Given the description of an element on the screen output the (x, y) to click on. 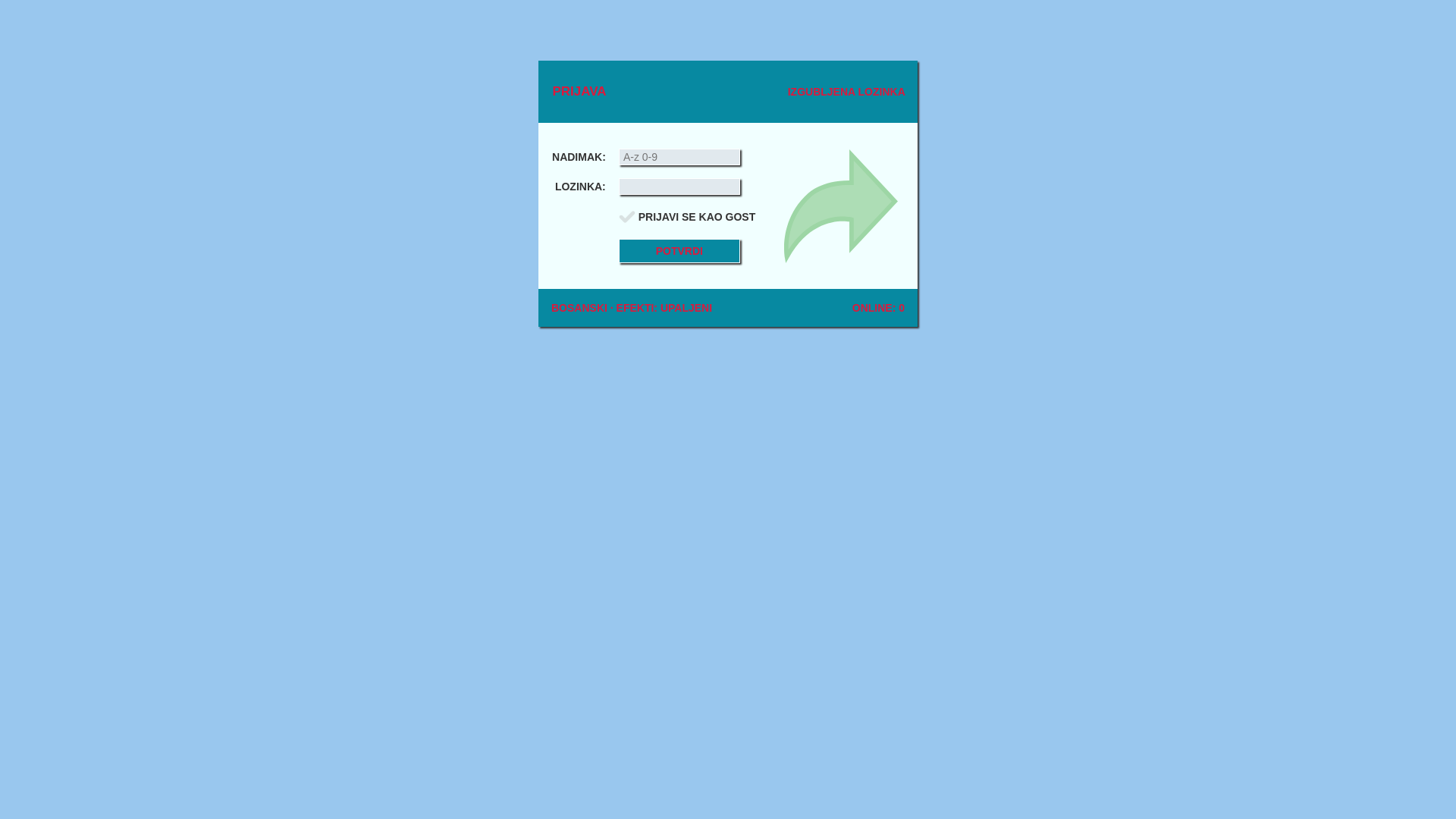
Potvrdi Element type: text (679, 250)
IZGUBLJENA LOZINKA Element type: text (846, 91)
BOSANSKI Element type: text (579, 307)
PRIJAVI SE KAO GOST Element type: text (697, 216)
EFEKTI: UPALJENI Element type: text (664, 307)
ONLINE: 0 Element type: text (878, 307)
